Given the description of an element on the screen output the (x, y) to click on. 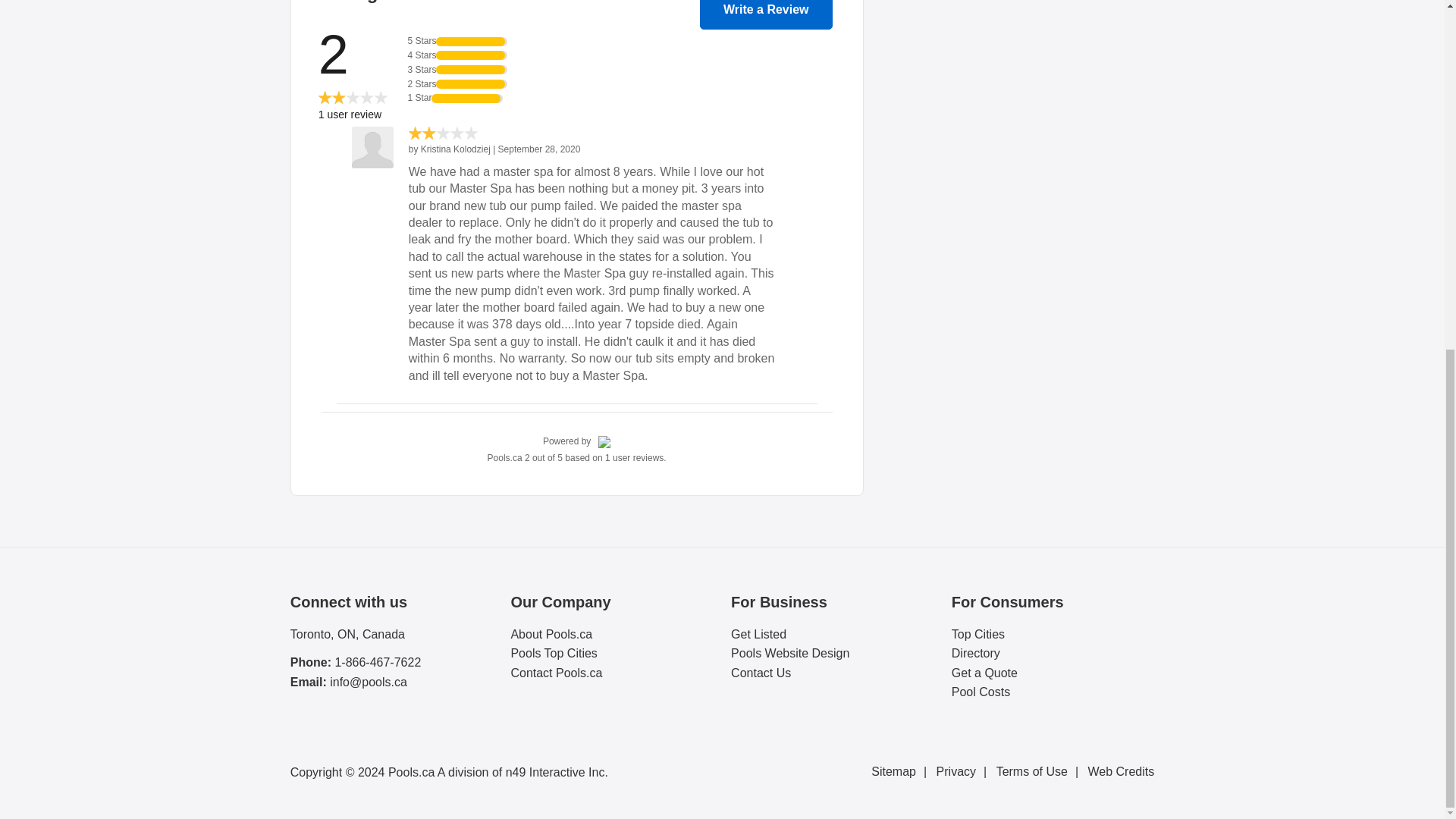
Get Listed (831, 634)
Contact Pools.ca (612, 673)
Pools Top Cities (612, 653)
For Consumers (1053, 601)
Powered by   (576, 440)
Top Cities (1053, 634)
Pools Website Design (831, 653)
Directory (1053, 653)
Sitemap (901, 771)
Get a Quote (1053, 673)
For Business (831, 601)
Write a Review (766, 14)
Our Company (612, 601)
Pool Costs (1053, 692)
1-866-467-7622 (377, 662)
